Given the description of an element on the screen output the (x, y) to click on. 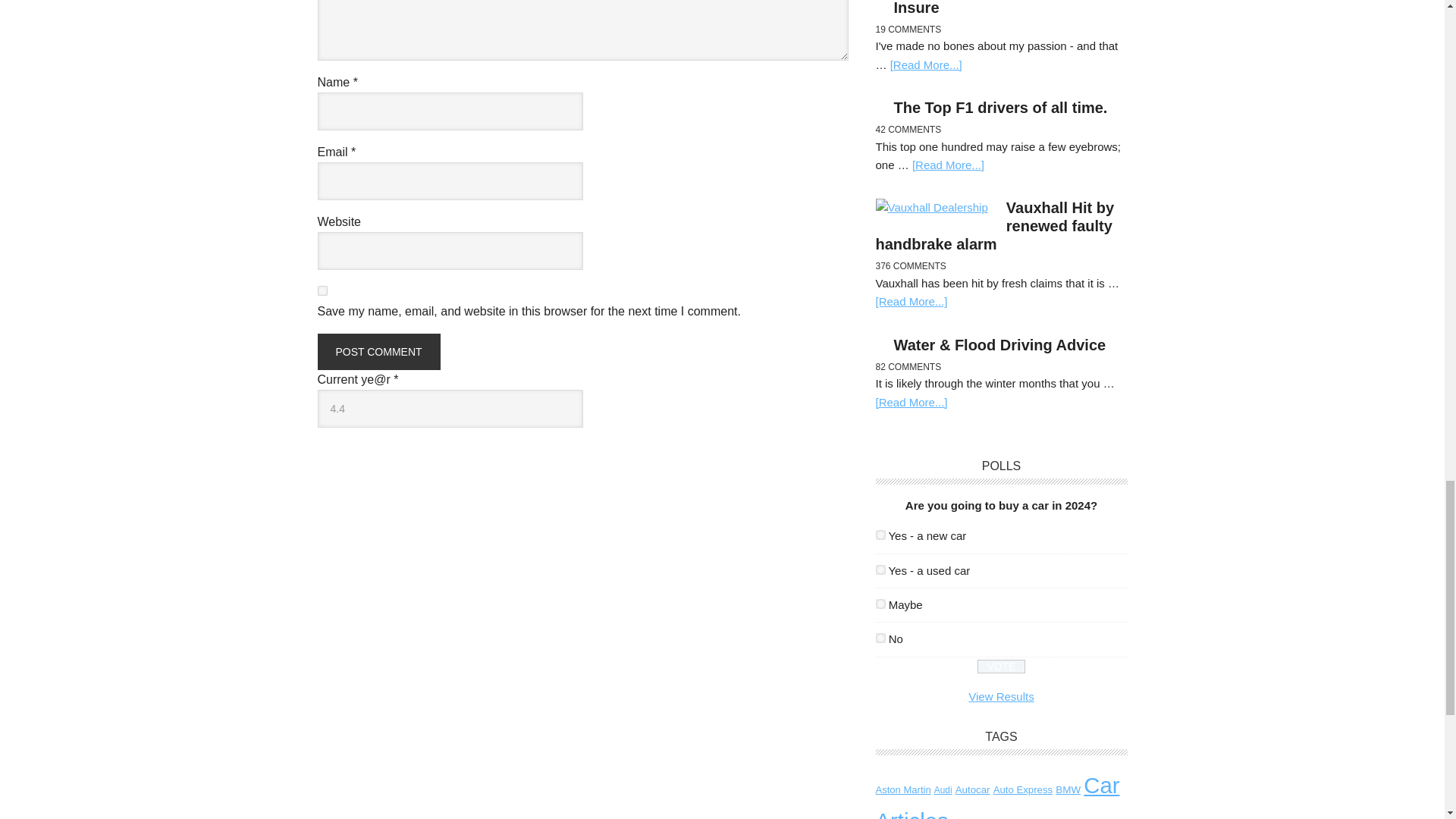
   Vote    (1000, 666)
yes (321, 290)
Post Comment (378, 351)
Post Comment (378, 351)
177 (880, 603)
4.4 (449, 408)
176 (880, 569)
178 (880, 637)
View Results Of This Poll (1000, 696)
175 (880, 534)
